Given the description of an element on the screen output the (x, y) to click on. 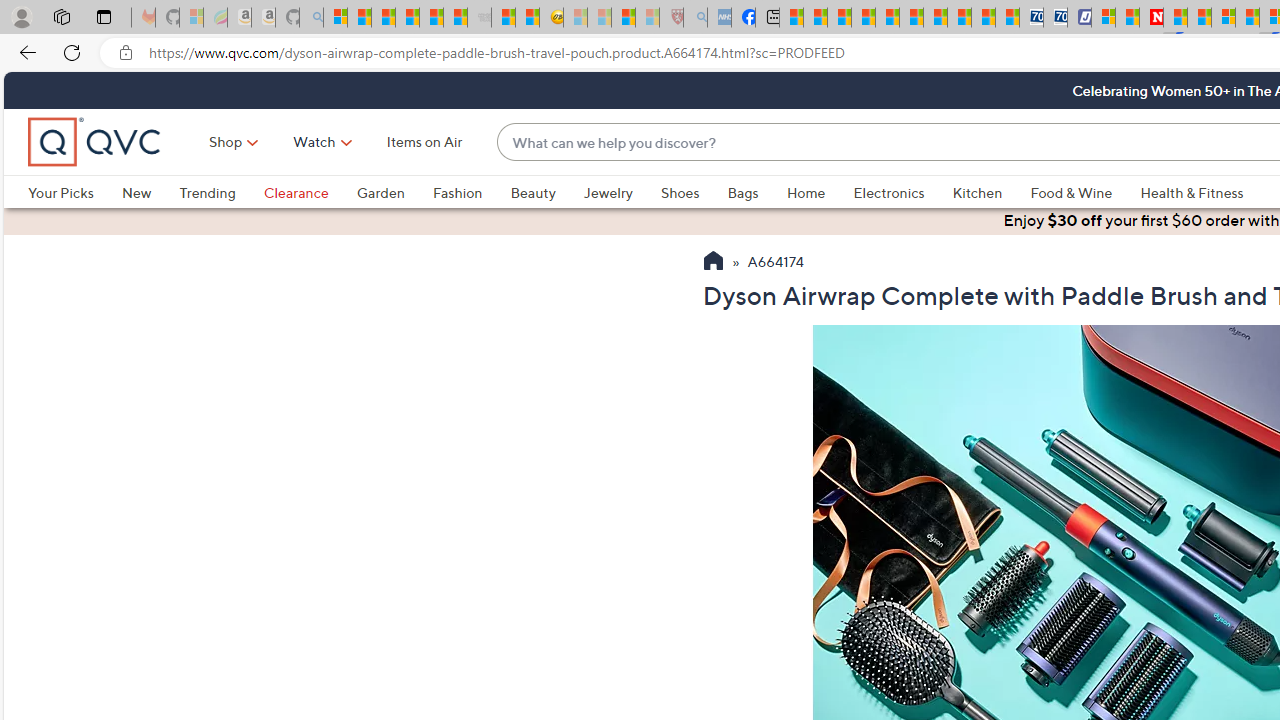
Return to QVC Homepage (712, 263)
Kitchen (977, 192)
Items on Air (424, 141)
Shoes (694, 192)
Jewelry (621, 192)
Shop (226, 141)
